Given the description of an element on the screen output the (x, y) to click on. 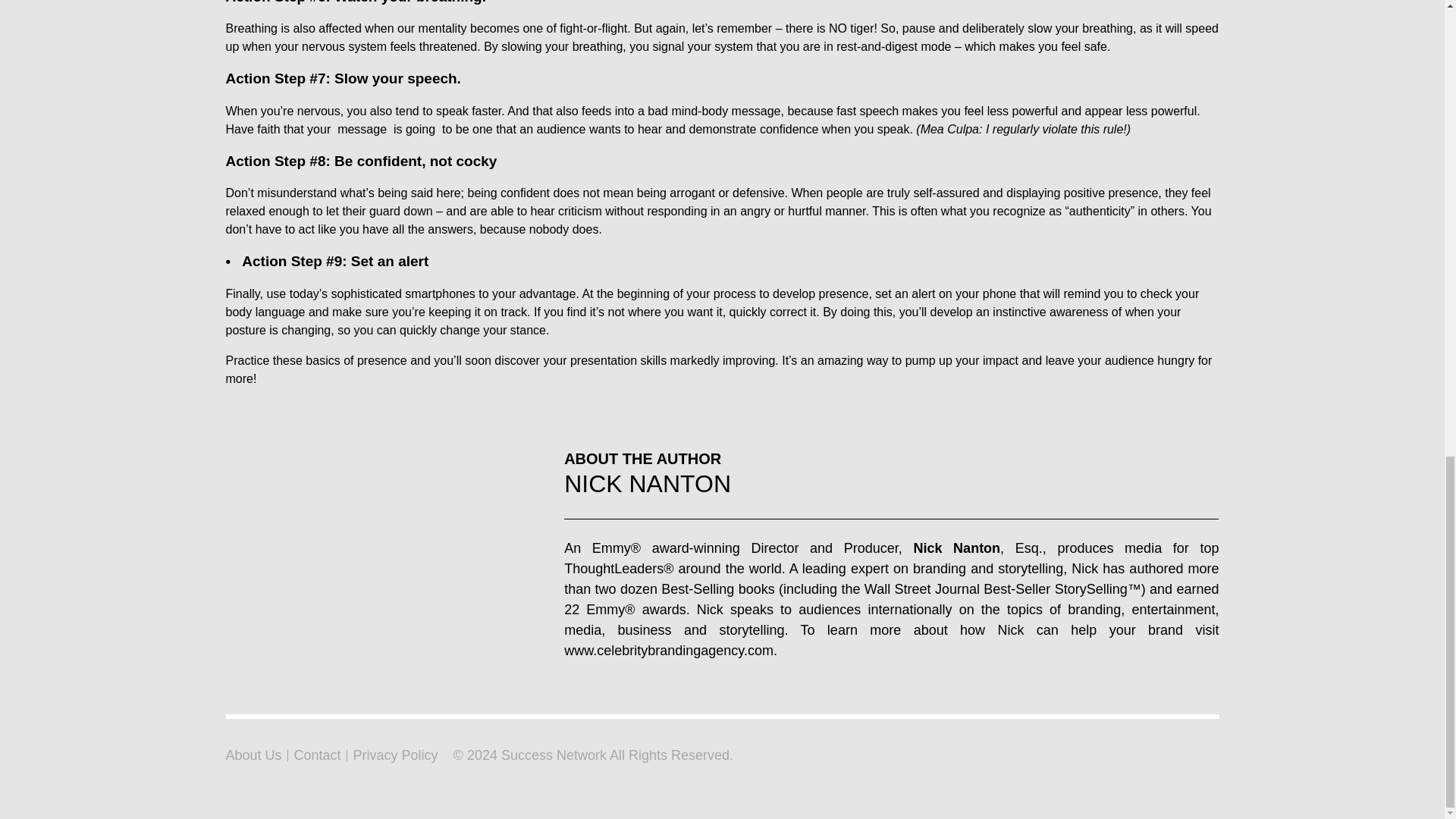
About Us (253, 754)
Contact (317, 754)
Privacy Policy (395, 754)
